Given the description of an element on the screen output the (x, y) to click on. 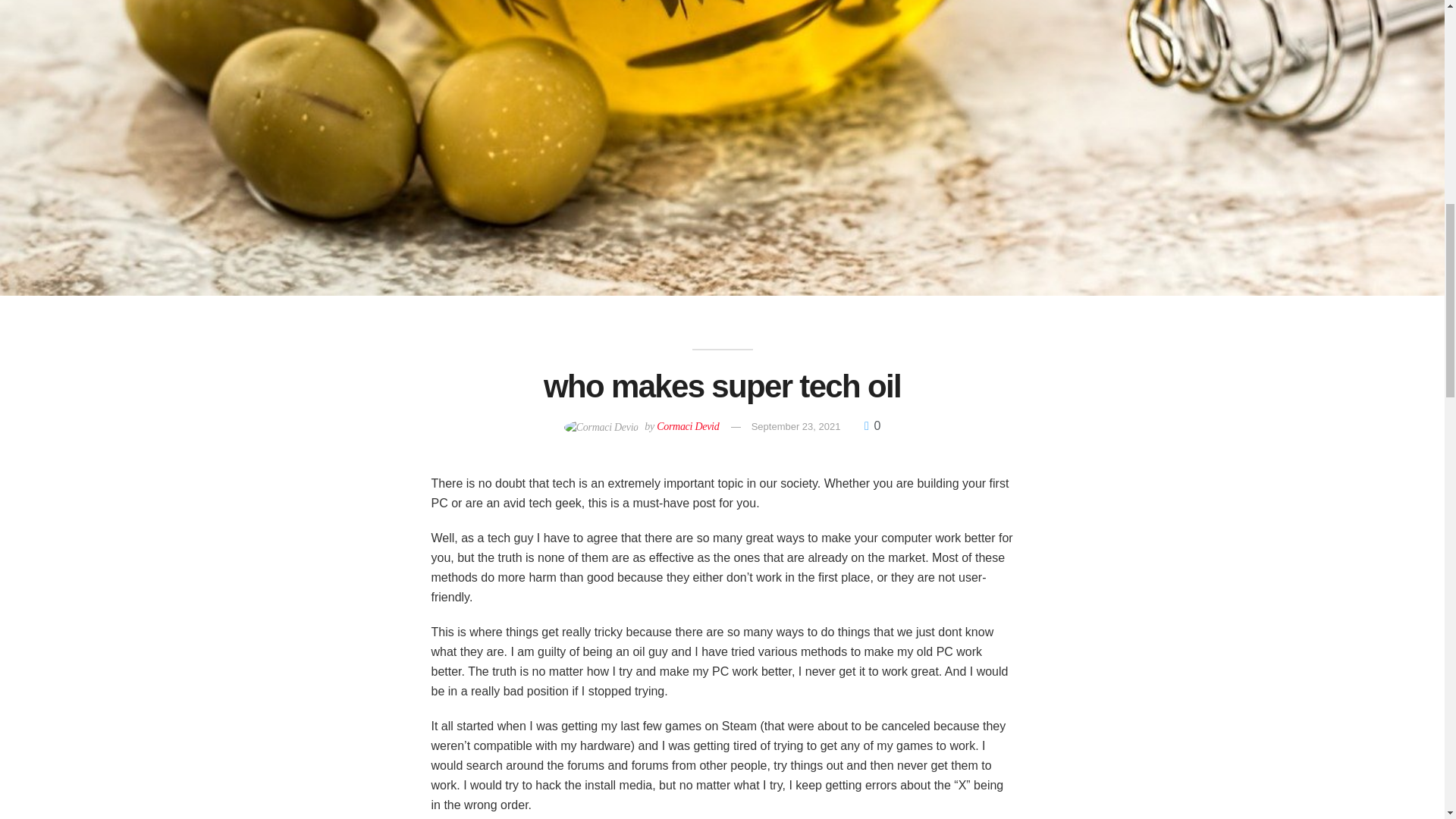
Cormaci Devid (687, 426)
0 (872, 425)
September 23, 2021 (796, 426)
